Given the description of an element on the screen output the (x, y) to click on. 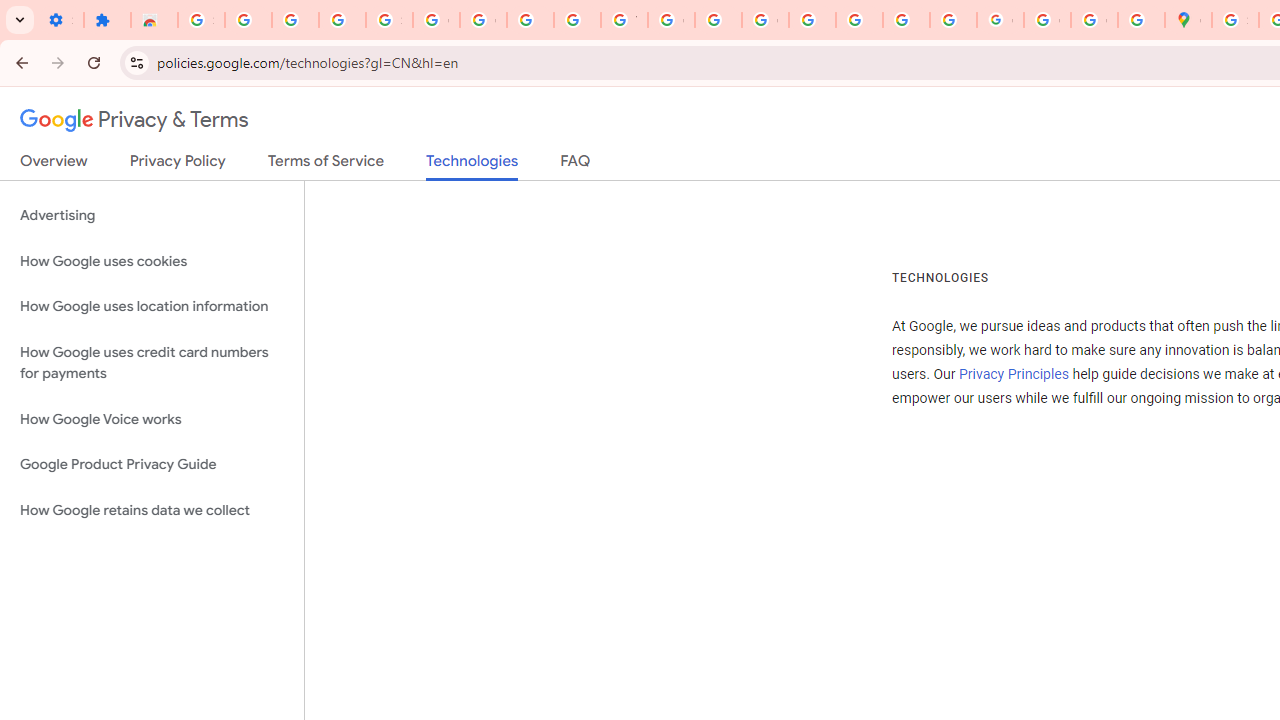
Sign in - Google Accounts (389, 20)
How Google retains data we collect (152, 510)
Overview (54, 165)
Forward (57, 62)
Google Maps (1188, 20)
Sign in - Google Accounts (201, 20)
Reload (93, 62)
Privacy Help Center - Policies Help (811, 20)
Google Account Help (482, 20)
FAQ (575, 165)
Google Product Privacy Guide (152, 465)
Reviews: Helix Fruit Jump Arcade Game (153, 20)
Learn how to find your photos - Google Photos Help (294, 20)
Privacy Policy (177, 165)
